Given the description of an element on the screen output the (x, y) to click on. 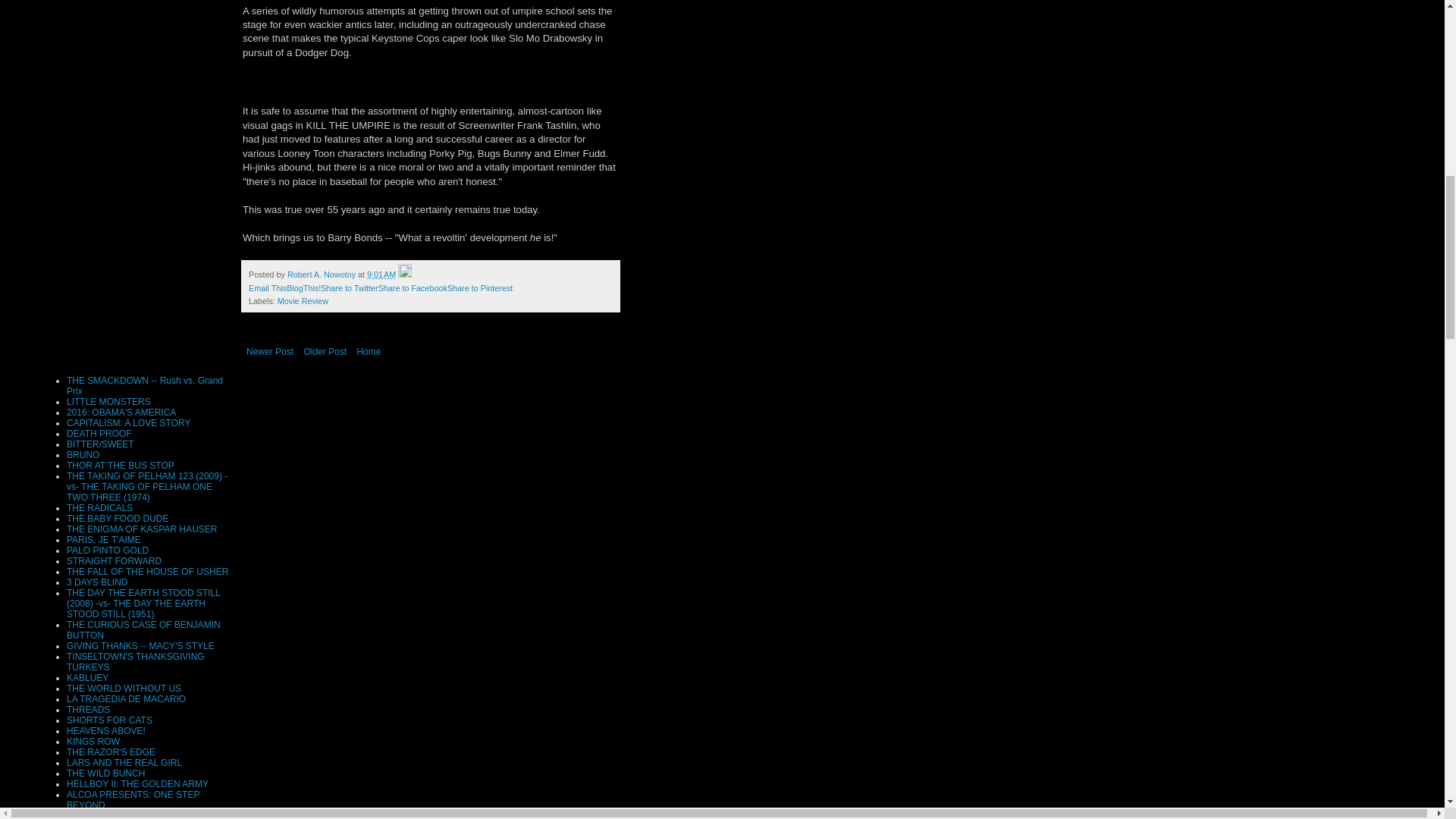
STRAIGHT FORWARD (113, 561)
PARIS, JE T'AIME (103, 539)
Robert A. Nowotny (322, 274)
Share to Pinterest (479, 287)
Newer Post (270, 352)
DEATH PROOF (99, 433)
Email This (267, 287)
Share to Facebook (412, 287)
author profile (322, 274)
THE ENIGMA OF KASPAR HAUSER (141, 529)
BlogThis! (303, 287)
Share to Facebook (412, 287)
LITTLE MONSTERS (108, 401)
THE BABY FOOD DUDE (117, 518)
